Given the description of an element on the screen output the (x, y) to click on. 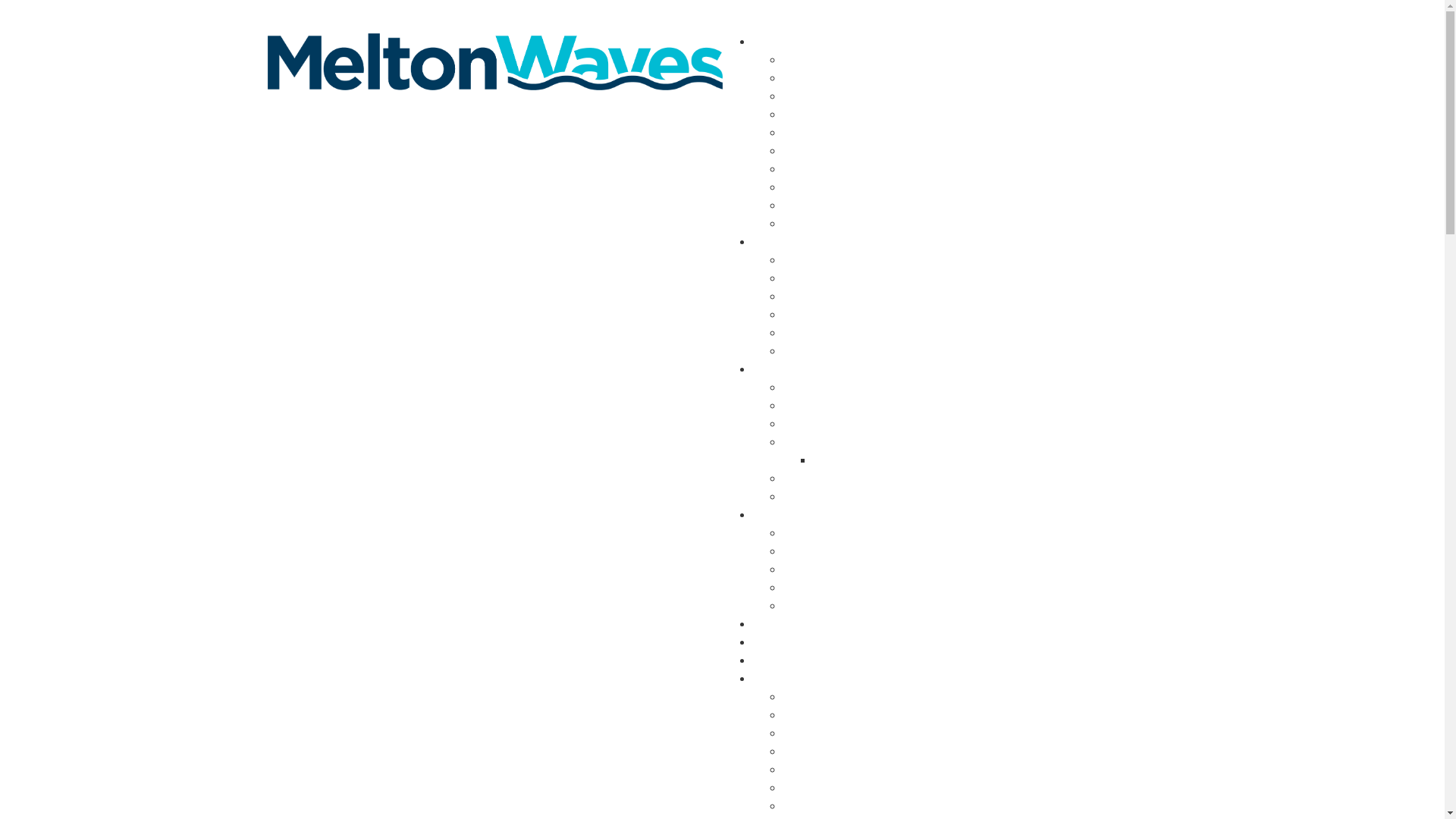
Bluefit Health Club Element type: text (831, 733)
FX30 Element type: text (826, 460)
Privacy Policy Element type: text (819, 223)
Splash Time Element type: text (816, 587)
Kids Element type: text (763, 515)
School Program Element type: text (825, 606)
Splash Time Element type: text (816, 296)
Opening Hours Element type: text (888, 16)
Memberships Element type: text (818, 405)
Our Pools Element type: text (808, 333)
Employment Element type: text (785, 624)
Aquatics Element type: text (805, 78)
Exercise Physiology Element type: text (835, 496)
melton@bluefit.com.au Element type: text (444, 16)
Terms of Use Element type: text (817, 478)
My Portal Element type: text (996, 16)
Learn To Swim Assessment Element type: text (856, 278)
Swim Club Element type: text (811, 351)
News Element type: text (766, 642)
Water Quality Element type: text (818, 169)
Birthday Parties Element type: text (824, 533)
Become a Member Element type: text (1108, 16)
Programs Element type: text (808, 442)
03 9747 4333 Element type: text (313, 16)
Keep Watch Element type: text (814, 187)
Swim Element type: text (767, 242)
Conditions of Entry Element type: text (833, 205)
Opening Hours Element type: text (822, 769)
Timetable Element type: text (809, 387)
Contact Element type: text (772, 660)
Gym Element type: text (764, 369)
Learn to Swim Element type: text (820, 260)
Playtime Element type: text (805, 569)
Opening Hours Element type: text (822, 132)
Accessible Features Element type: text (835, 788)
Get Active Kids Voucher Element type: text (846, 551)
Aquatics Element type: text (805, 715)
Bluefit Health Club Element type: text (831, 96)
Entry Fees Element type: text (809, 697)
Facilities Element type: text (776, 678)
Accessible Features Element type: text (835, 151)
Facilities Element type: text (776, 41)
Cafe Element type: text (794, 114)
Water Quality Element type: text (818, 806)
Entry Fees Element type: text (809, 60)
Cafe Element type: text (794, 751)
Lane Availability Element type: text (826, 314)
FIT Journey Element type: text (814, 424)
